Given the description of an element on the screen output the (x, y) to click on. 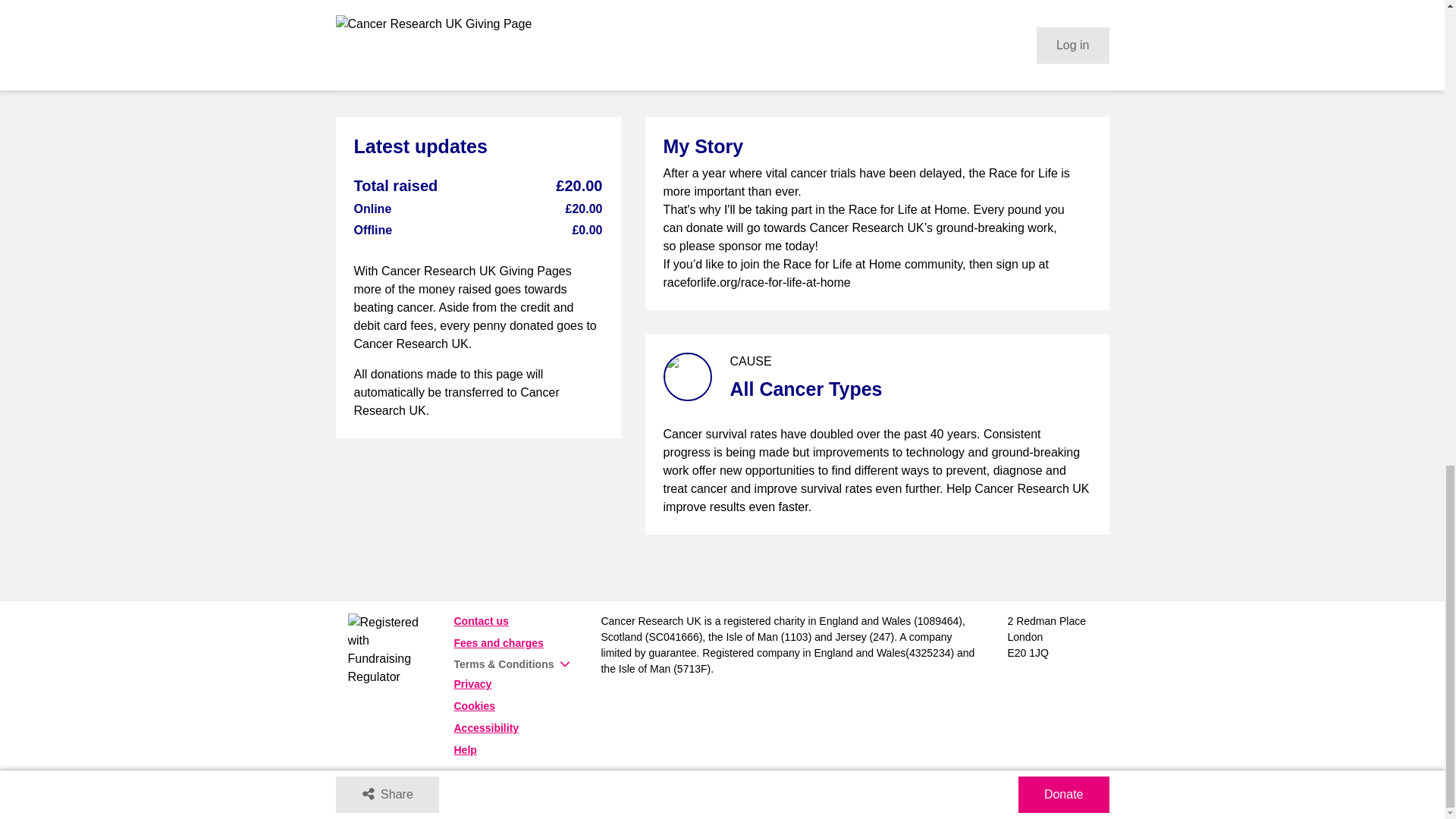
Contact us (480, 621)
Help (464, 749)
Accessibility (485, 727)
Cookies (473, 705)
Privacy (472, 684)
Fees and charges (497, 643)
